Given the description of an element on the screen output the (x, y) to click on. 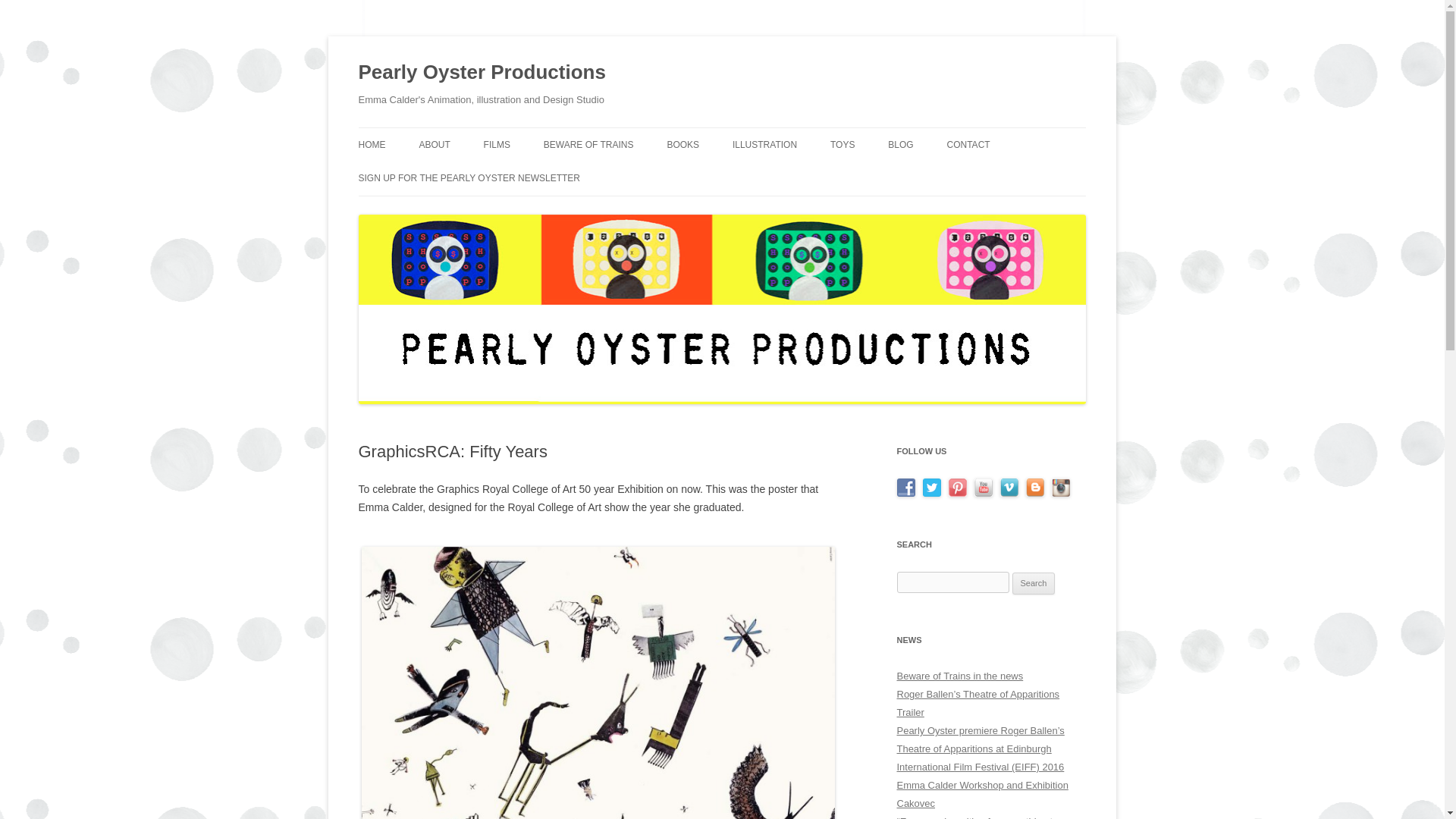
BEWARE OF TRAINS (588, 144)
Follow Us on Twitter (930, 487)
Pearly Oyster Productions (481, 72)
WATERCOLOUR ILLUSTRATIONS (807, 176)
CONTACT (968, 144)
Follow Us on Pinterest (956, 487)
Follow Us on Blogger (1034, 487)
ABOUT (434, 144)
SIGN UP FOR THE PEARLY OYSTER NEWSLETTER (468, 177)
